Given the description of an element on the screen output the (x, y) to click on. 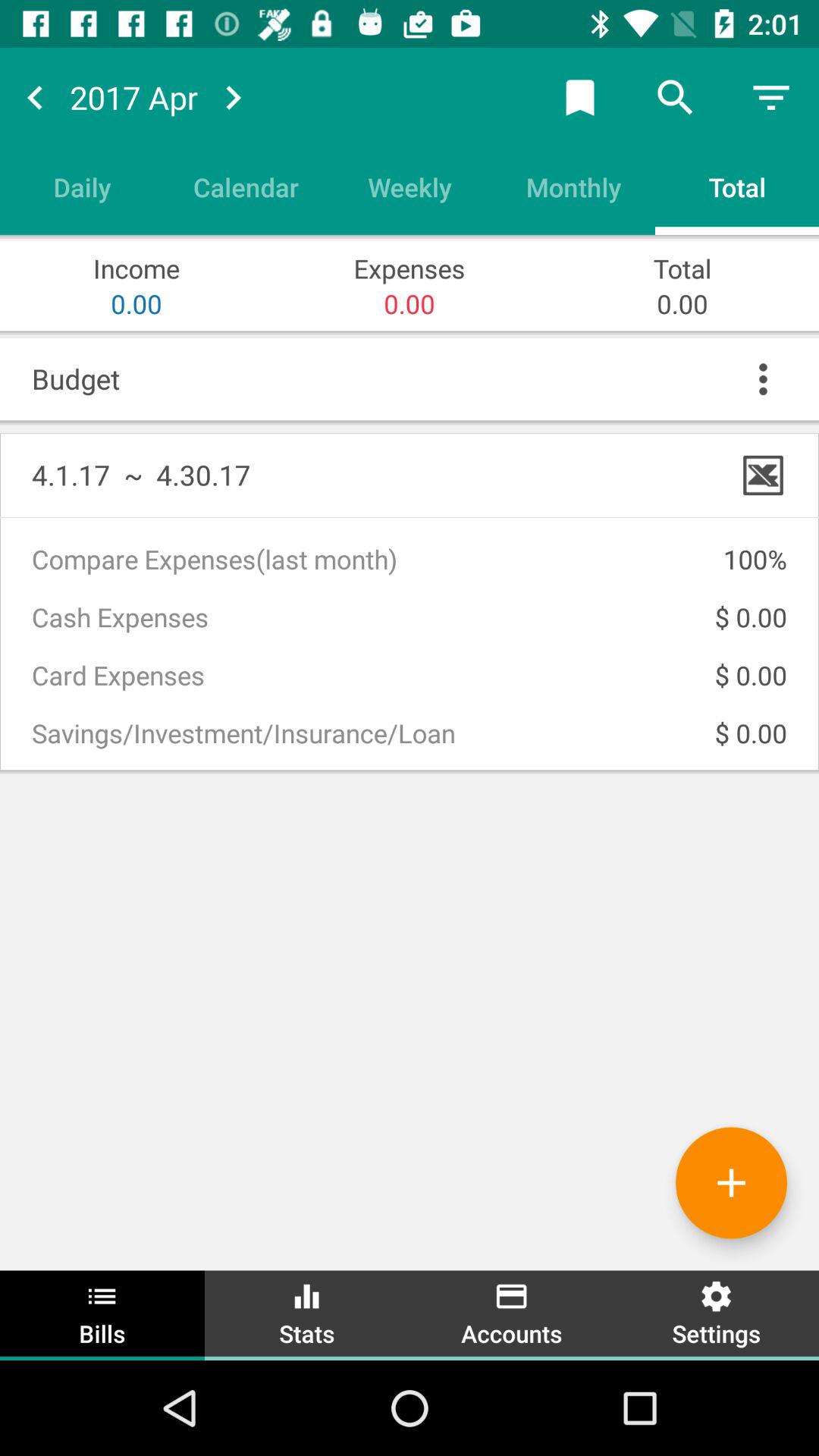
search button to search a specific item or information (675, 97)
